Given the description of an element on the screen output the (x, y) to click on. 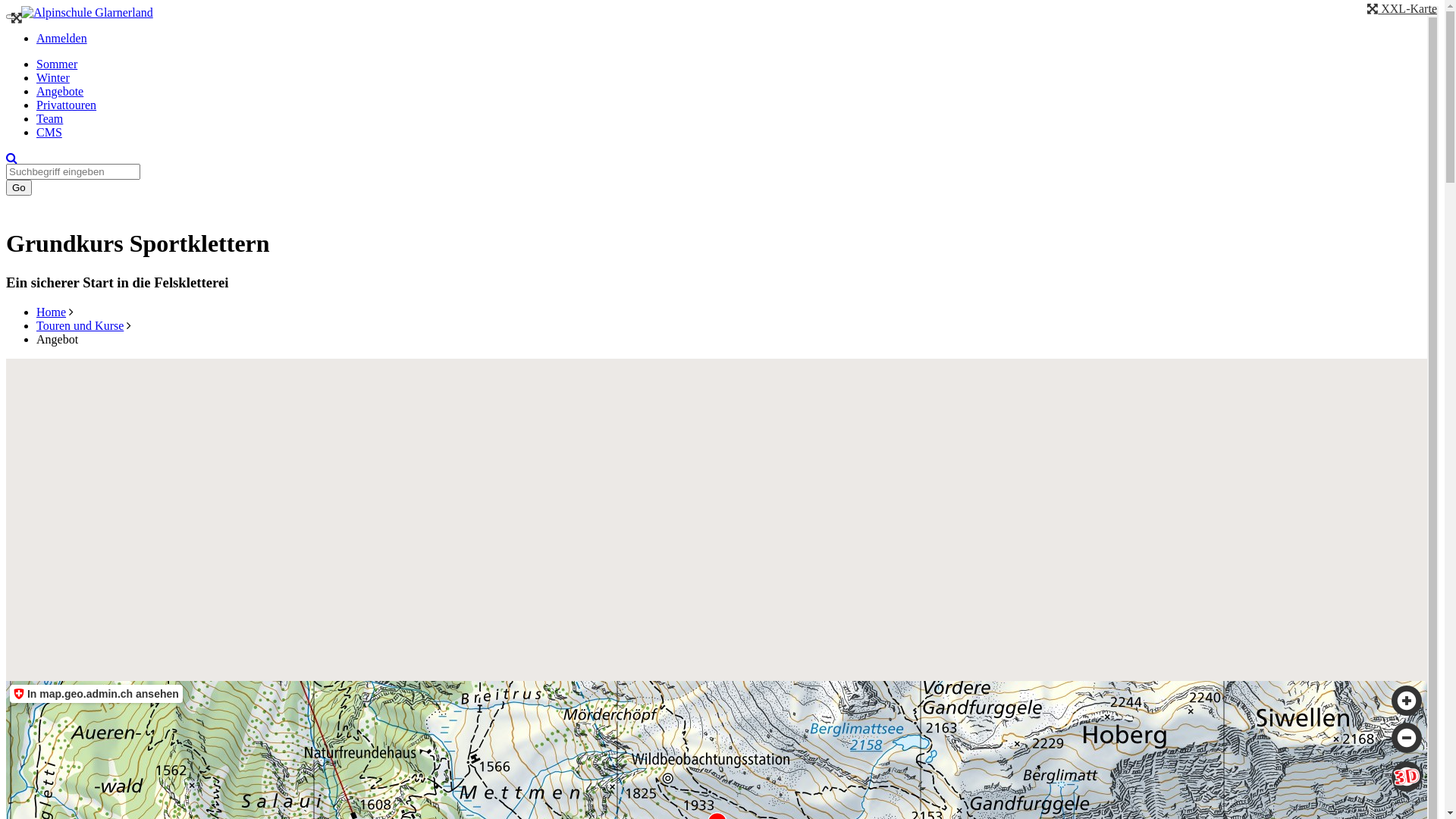
Alpinschule Glarnerland Element type: hover (87, 12)
Angebote Element type: text (59, 90)
Touren und Kurse Element type: text (79, 325)
Sommer Element type: text (56, 63)
CMS Element type: text (49, 131)
Anmelden Element type: text (61, 37)
Go Element type: text (18, 187)
Winter Element type: text (52, 77)
Privattouren Element type: text (66, 104)
Team Element type: text (49, 118)
 XXL-Karte Element type: text (1402, 8)
Home Element type: text (50, 311)
